Given the description of an element on the screen output the (x, y) to click on. 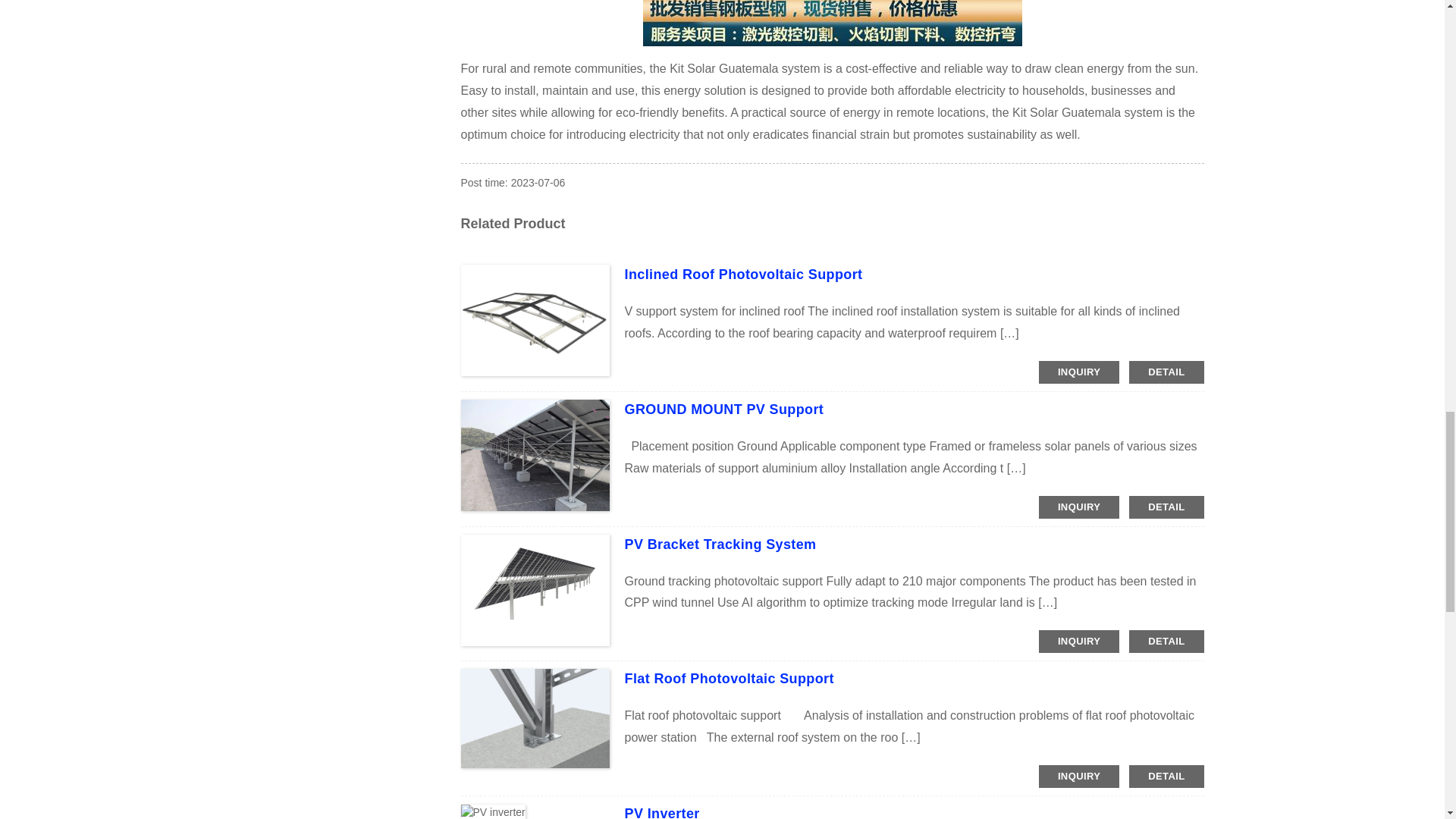
PV bracket tracking system (720, 544)
GROUND MOUNT PV Support (724, 409)
Flat Roof Photovoltaic Support (729, 678)
DETAIL (1166, 640)
DETAIL (1166, 775)
Inclined roof photovoltaic support (743, 273)
Flat roof photovoltaic support (729, 678)
PV Bracket Tracking System (720, 544)
INQUIRY (1079, 640)
DETAIL (1166, 507)
Inclined Roof Photovoltaic Support (743, 273)
INQUIRY (1079, 775)
INQUIRY (1079, 372)
DETAIL (1166, 372)
INQUIRY (1079, 507)
